Given the description of an element on the screen output the (x, y) to click on. 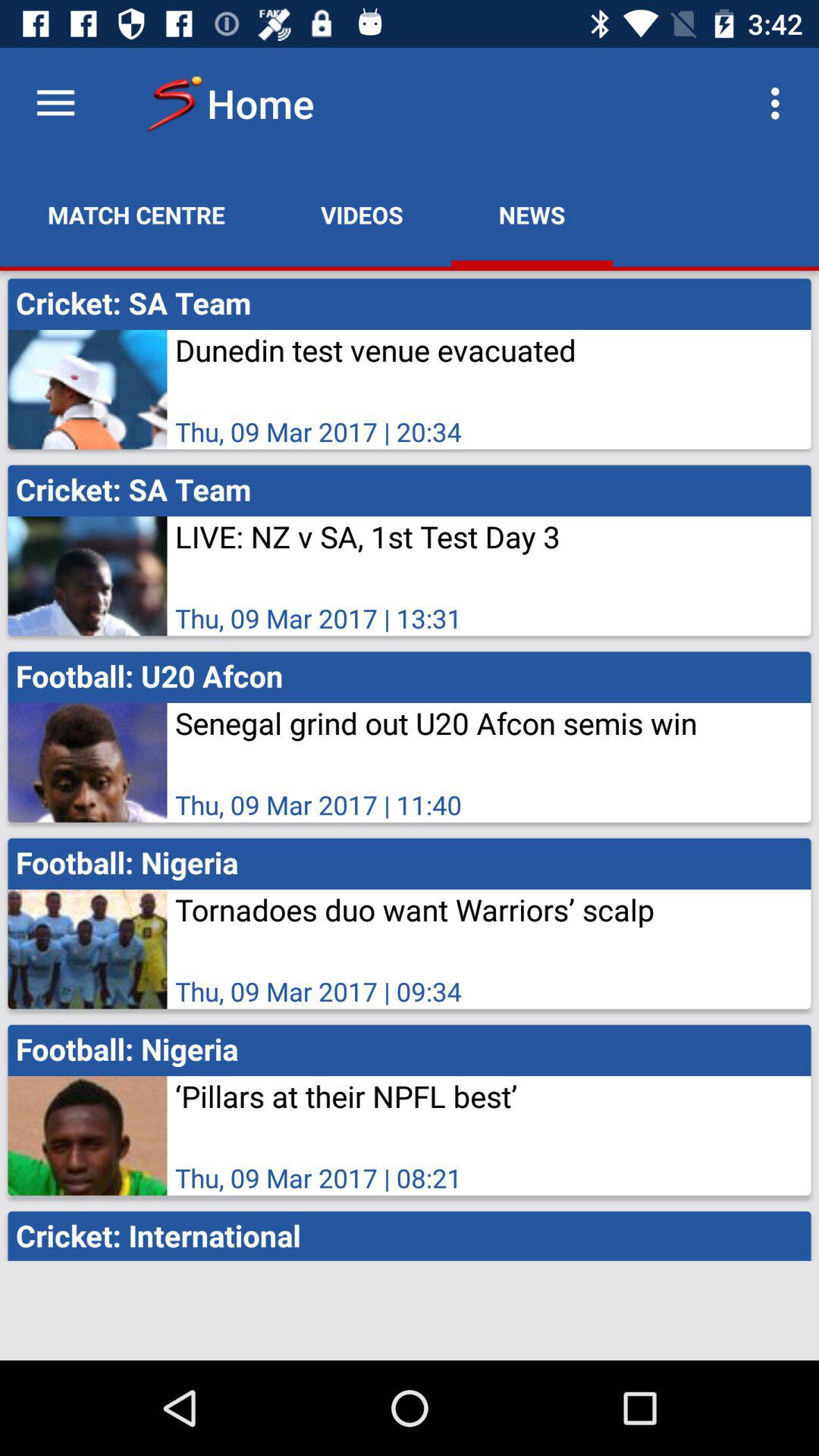
turn off item to the right of the news icon (779, 103)
